Given the description of an element on the screen output the (x, y) to click on. 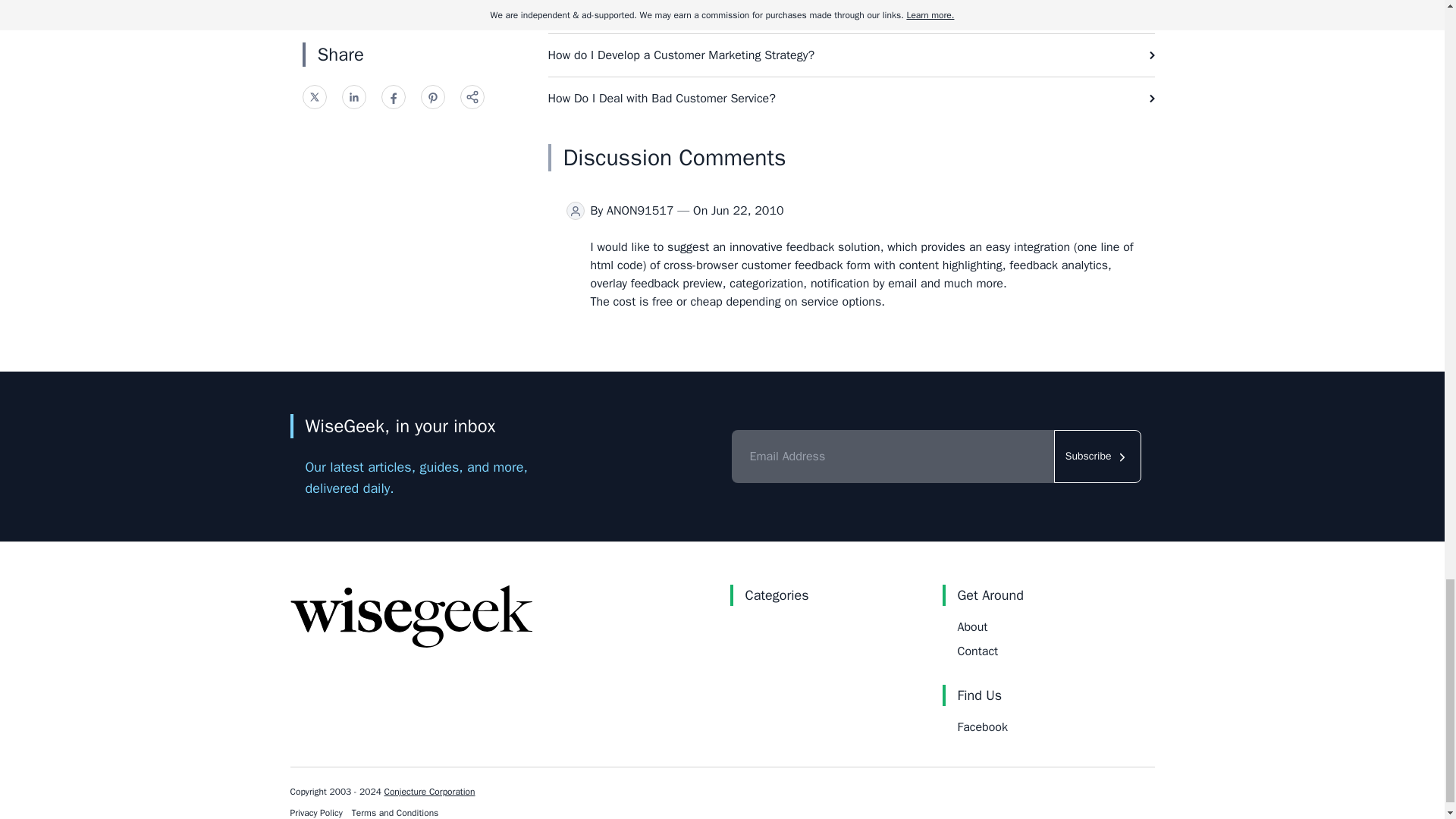
How Do I Deal with Bad Customer Service? (850, 97)
What is Customer Process? (850, 16)
Subscribe (1097, 456)
How do I Develop a Customer Marketing Strategy? (850, 55)
